Given the description of an element on the screen output the (x, y) to click on. 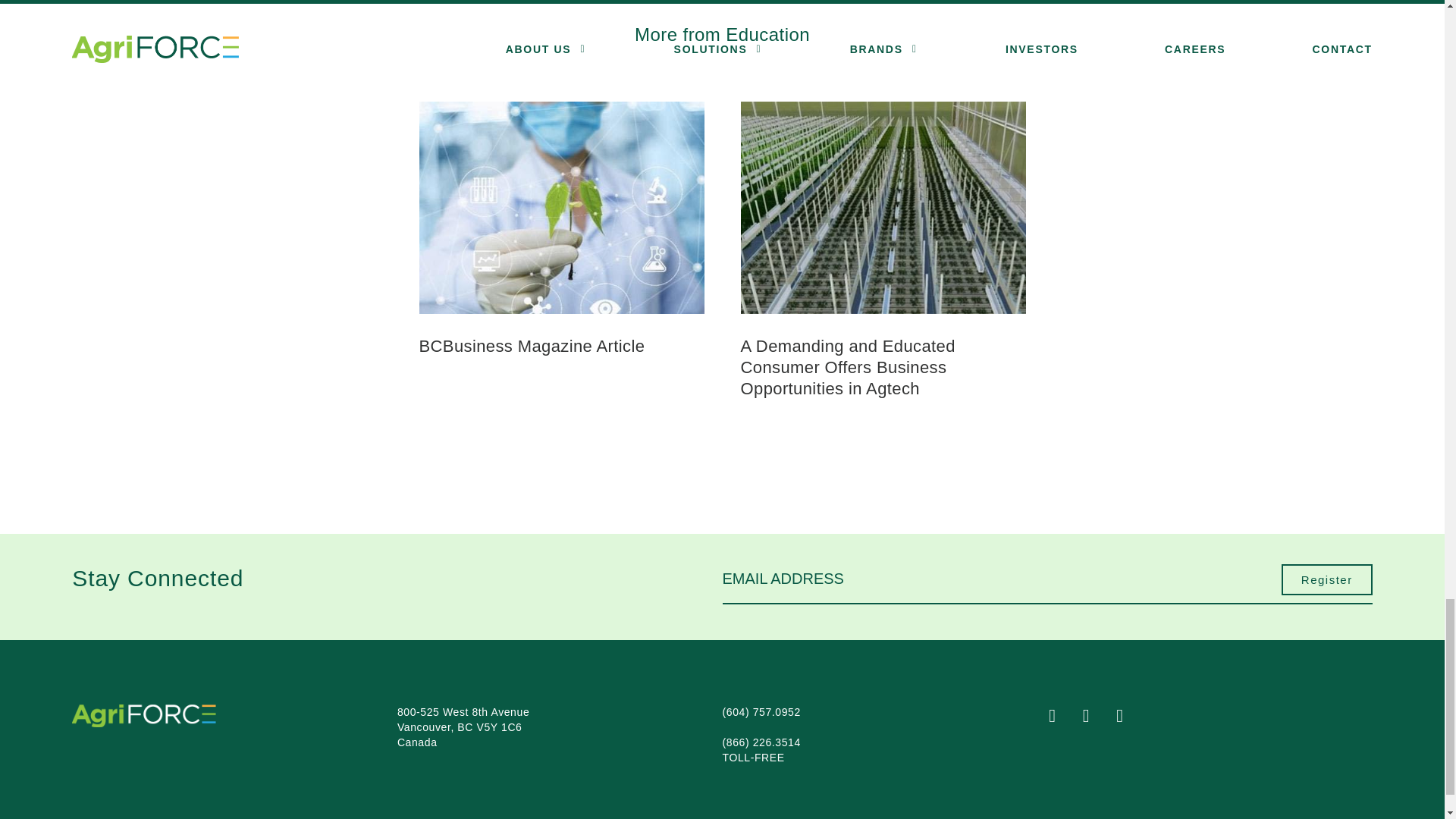
Register (1327, 580)
Like us on Facebook (1061, 717)
Follow us on Twitter (1096, 717)
Connect with us on LinkedIn (1129, 717)
BCBusiness Magazine Article (532, 345)
Register (1327, 580)
